Given the description of an element on the screen output the (x, y) to click on. 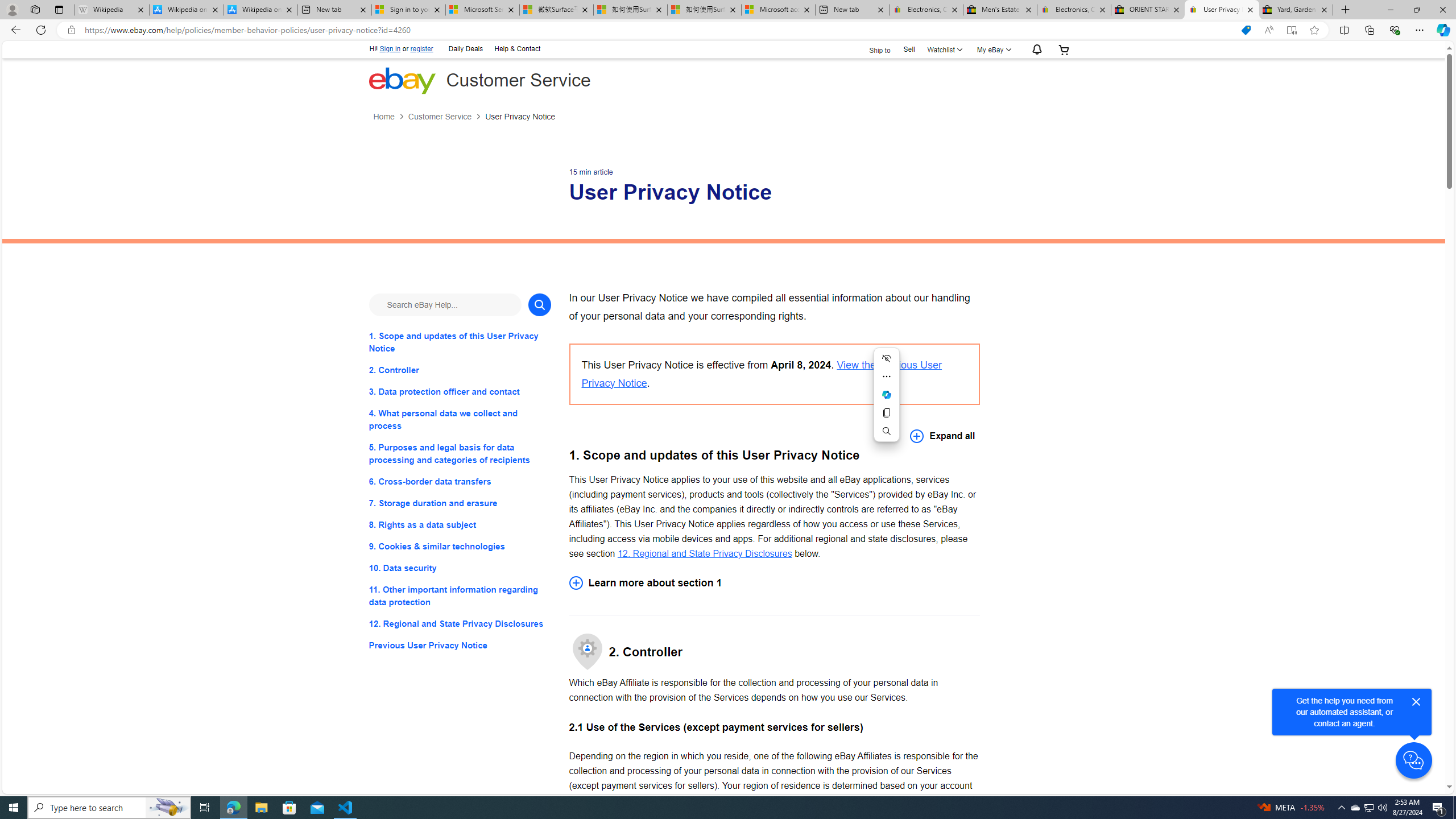
7. Storage duration and erasure (459, 503)
Help & Contact (516, 49)
Expand all (942, 435)
7. Storage duration and erasure (459, 503)
8. Rights as a data subject (459, 524)
3. Data protection officer and contact (459, 391)
Help & Contact (516, 48)
12. Regional and State Privacy Disclosures (459, 623)
